Given the description of an element on the screen output the (x, y) to click on. 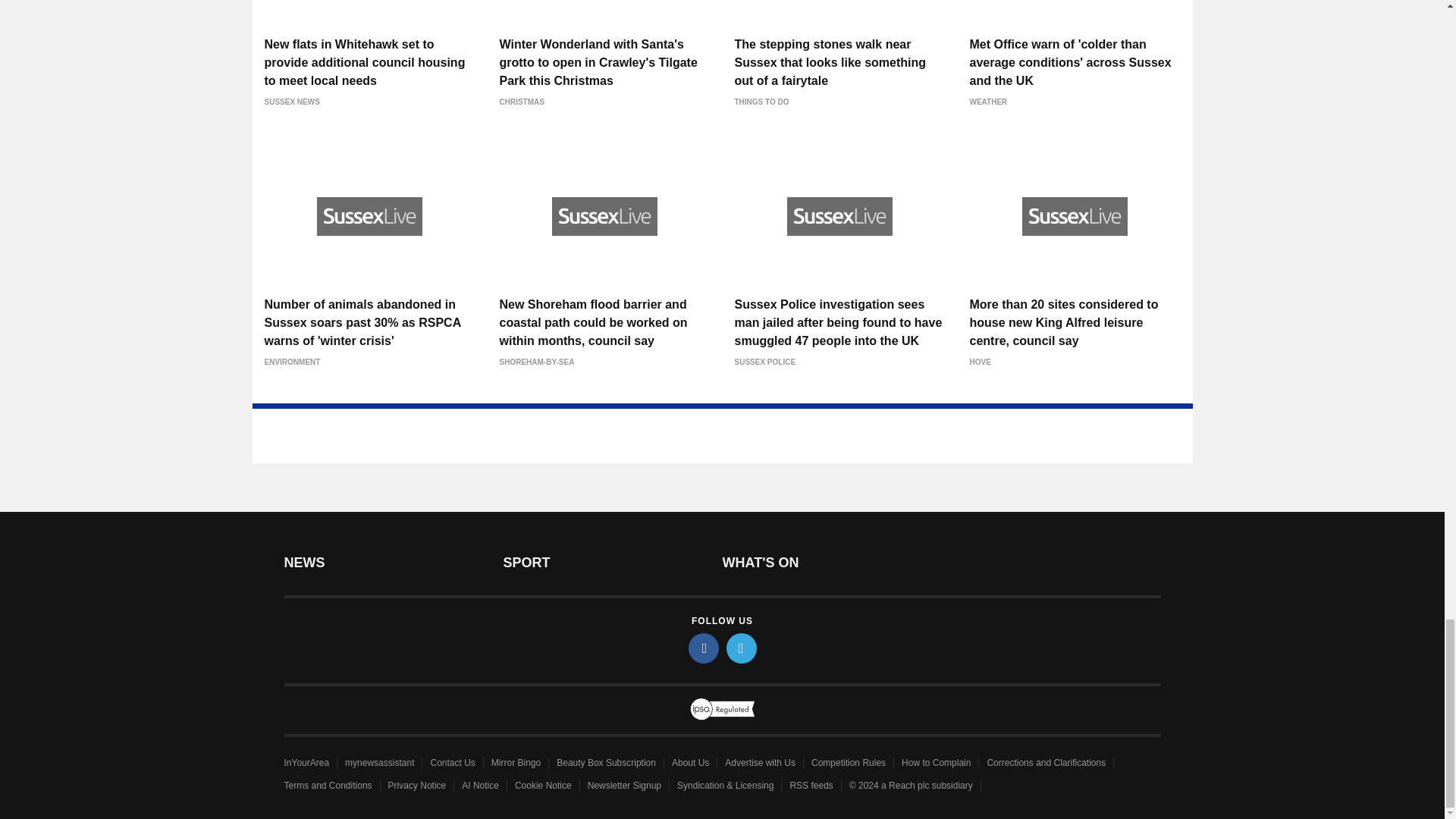
facebook (703, 648)
twitter (741, 648)
